Given the description of an element on the screen output the (x, y) to click on. 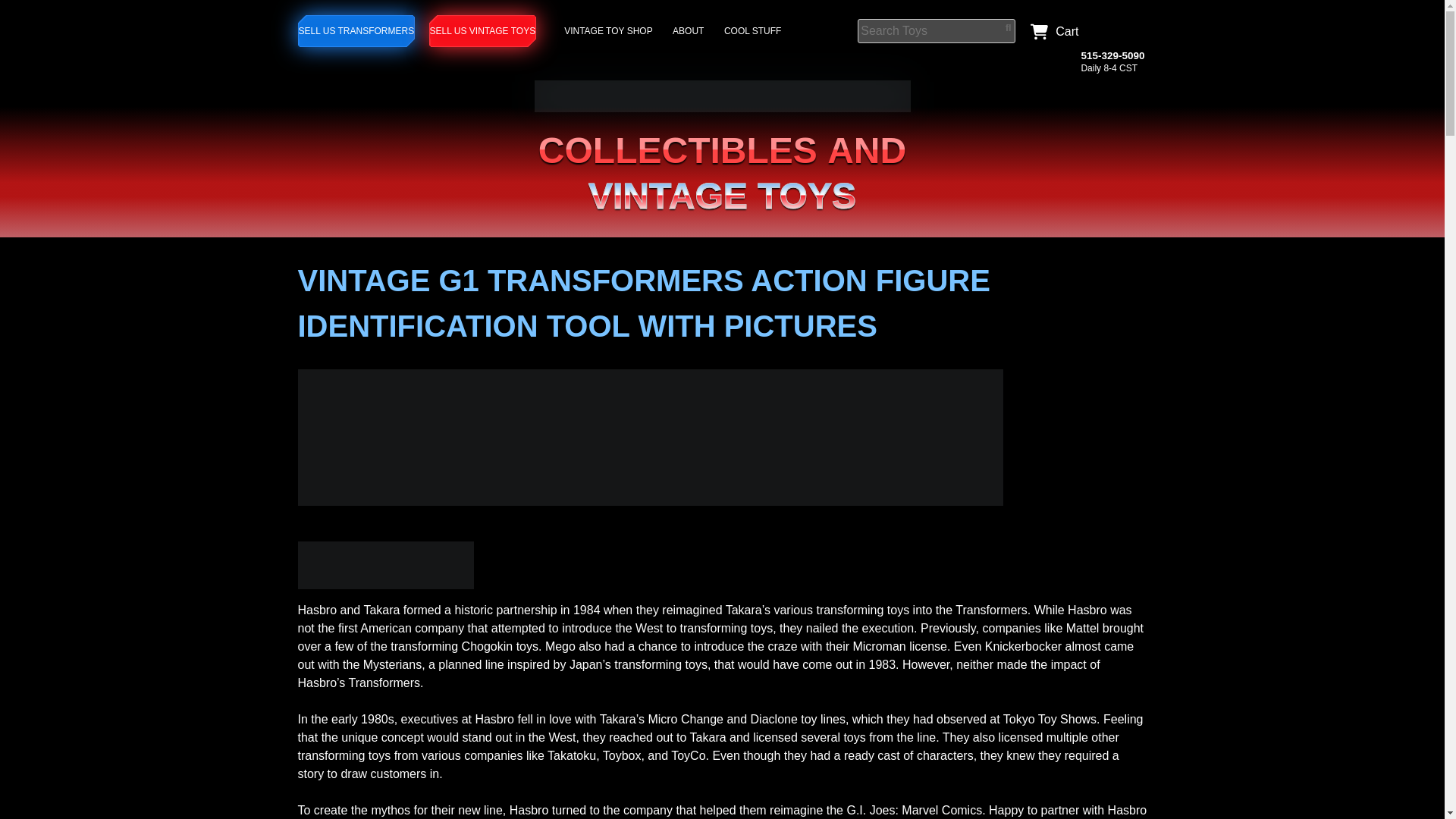
ABOUT   (690, 30)
Cart (1050, 30)
Sell Us Transformers (355, 30)
Sell Us Vintage Toys (483, 30)
COOL STUFF   (754, 30)
SELL US VINTAGE TOYS (483, 30)
515-329-5090 (1112, 55)
Live Chat (1116, 28)
View Cart (1050, 30)
Wheeljack's Lab (722, 107)
Transformers Logo (385, 564)
VINTAGE TOY SHOP   (610, 30)
SELL US TRANSFORMERS (355, 30)
